Given the description of an element on the screen output the (x, y) to click on. 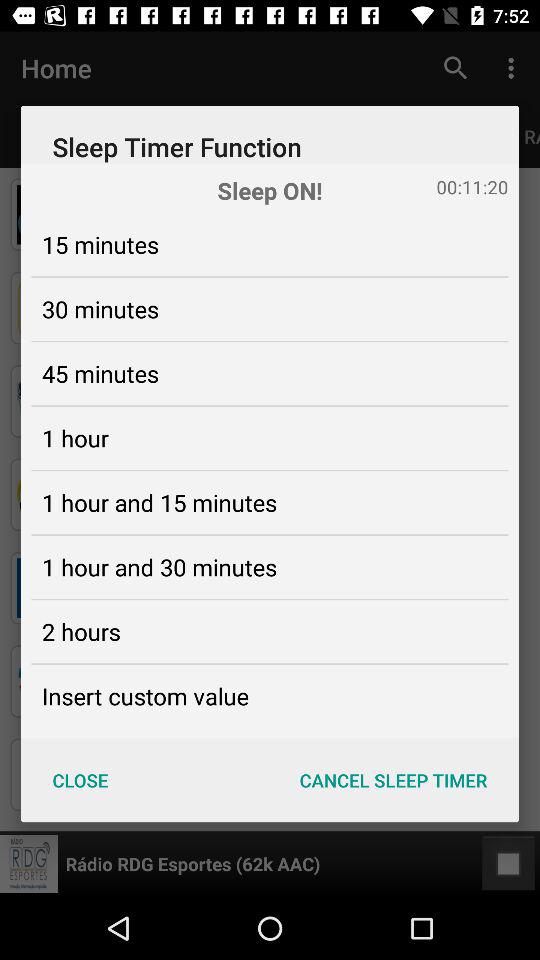
click the icon above the 1 hour (100, 373)
